Given the description of an element on the screen output the (x, y) to click on. 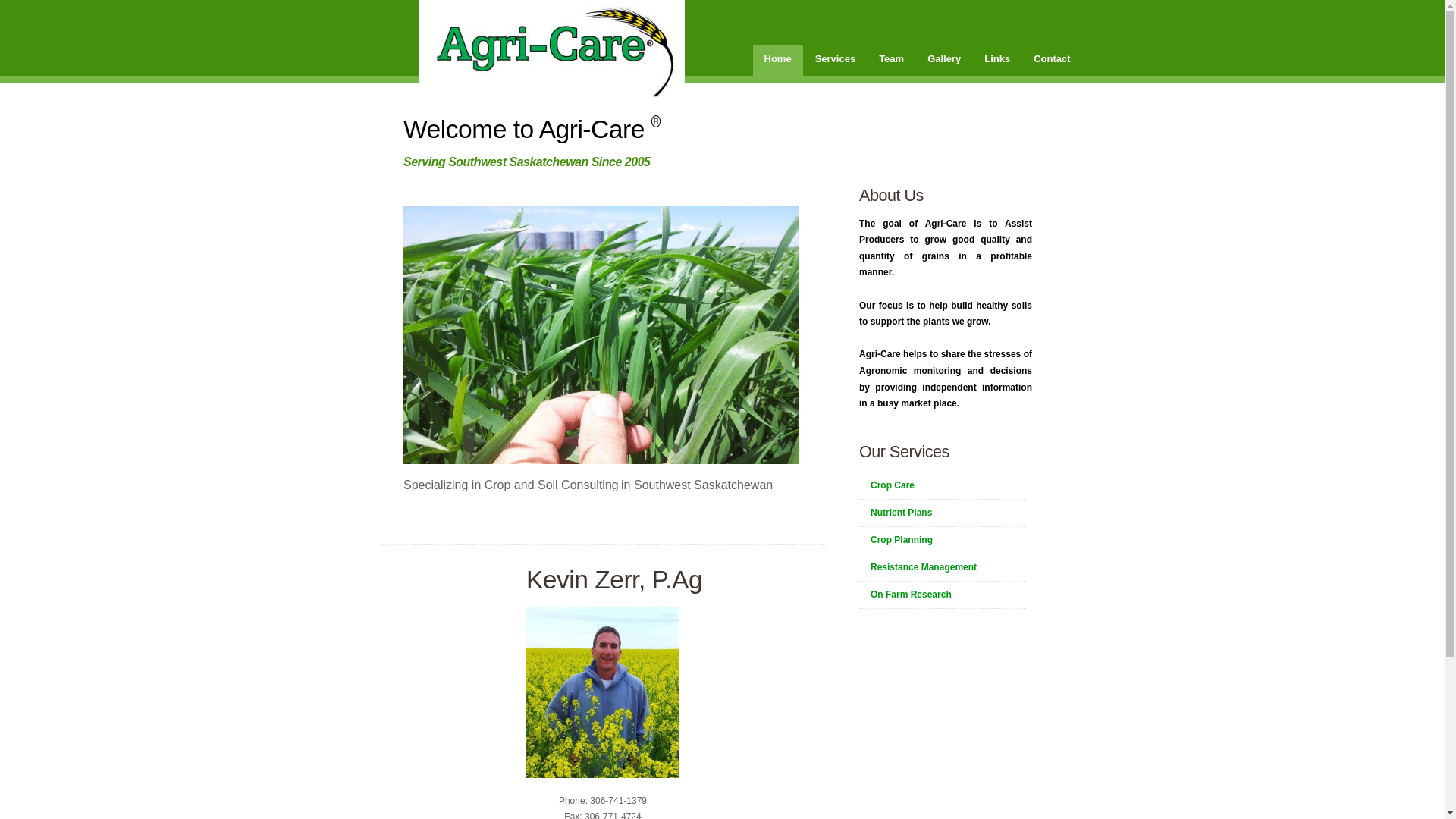
Crop Planning Element type: text (895, 539)
Resistance Management Element type: text (917, 566)
Nutrient Plans Element type: text (895, 512)
Services Element type: text (835, 60)
Gallery Element type: text (944, 60)
Contact Element type: text (1051, 60)
Links Element type: text (996, 60)
Crop Care Element type: text (886, 485)
On Farm Research Element type: text (905, 594)
Team Element type: text (891, 60)
Home Element type: text (777, 60)
